Given the description of an element on the screen output the (x, y) to click on. 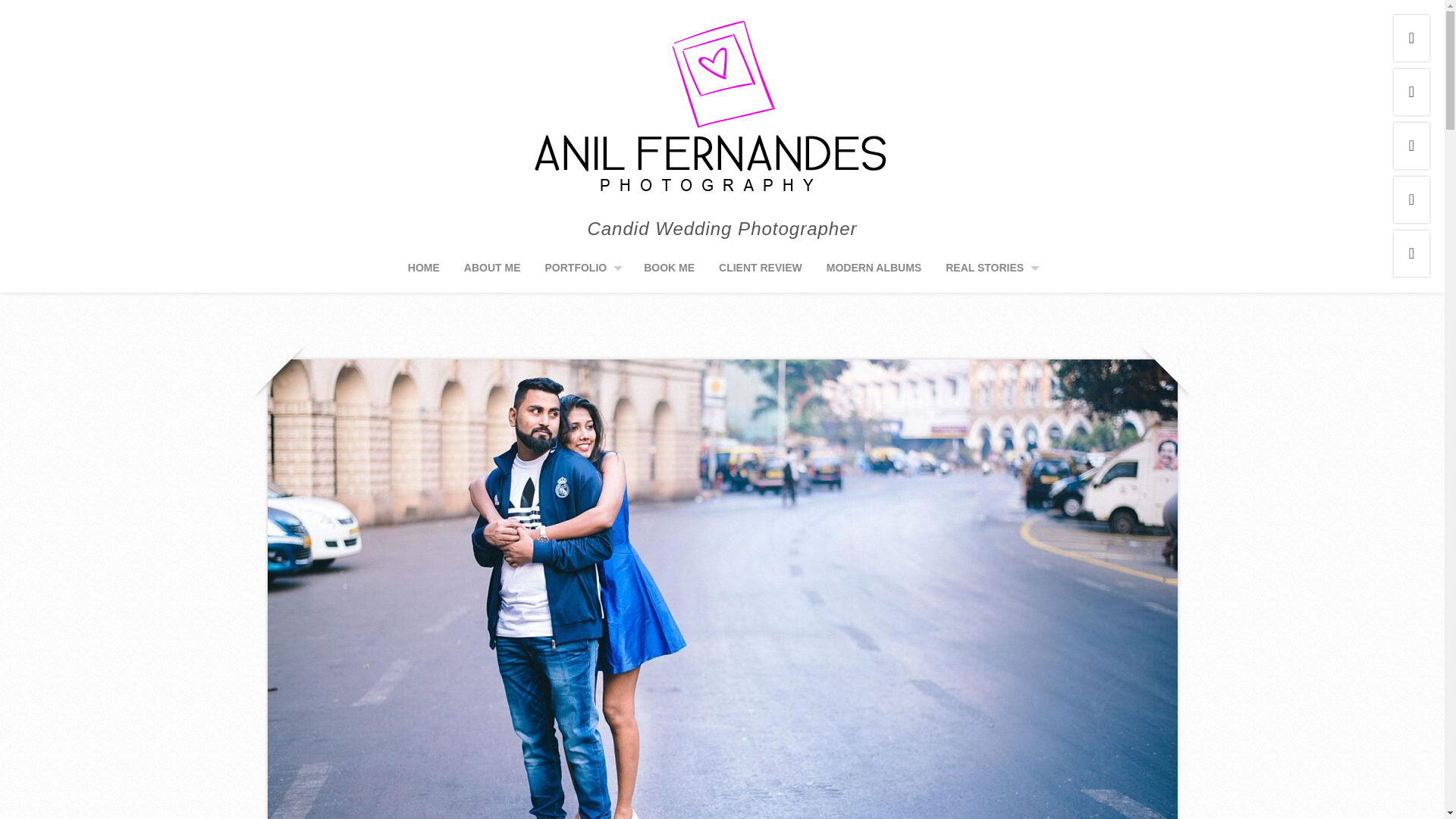
MODERN ALBUMS (874, 271)
HOME (423, 271)
ABOUT ME (492, 271)
PORTFOLIO (583, 271)
BOOK ME (668, 271)
CLIENT REVIEW (760, 271)
REAL STORIES (991, 271)
